Given the description of an element on the screen output the (x, y) to click on. 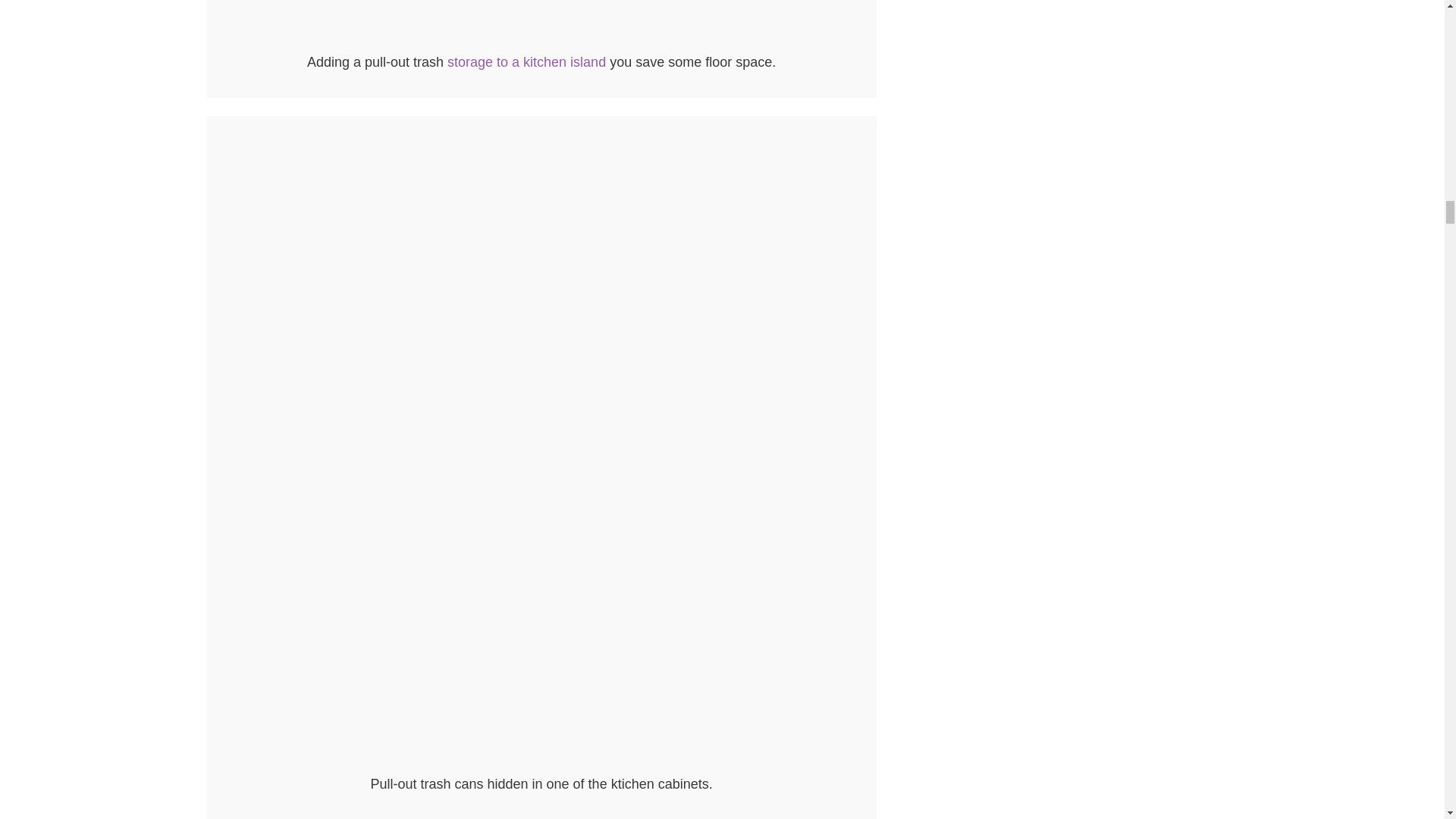
storage to a kitchen island (525, 61)
